Given the description of an element on the screen output the (x, y) to click on. 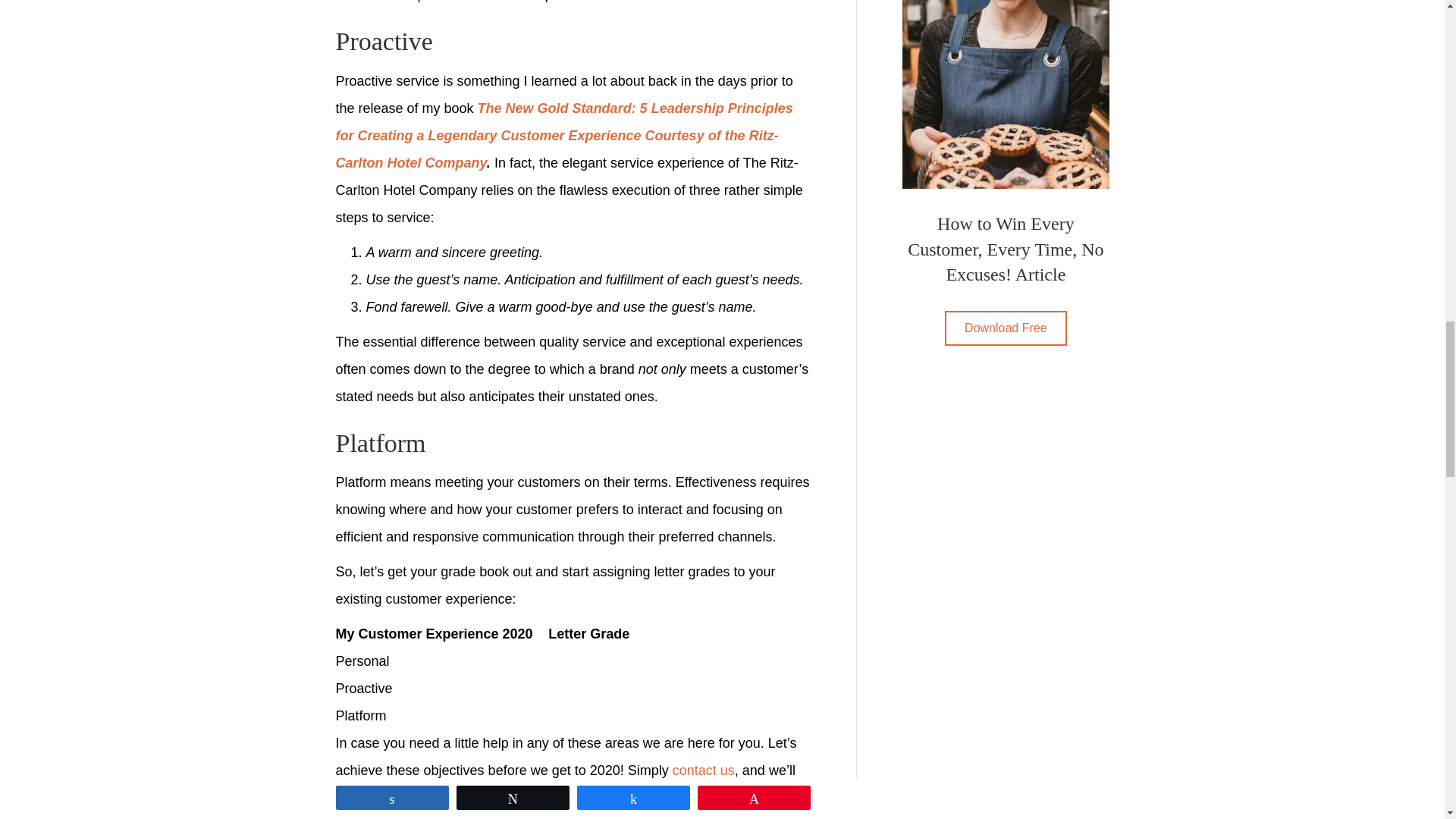
us (727, 770)
contact (694, 770)
Download Free (1005, 328)
How to Win Every Customer, Every Time, No Excuses! Article (1005, 94)
Click Here (1005, 328)
